Given the description of an element on the screen output the (x, y) to click on. 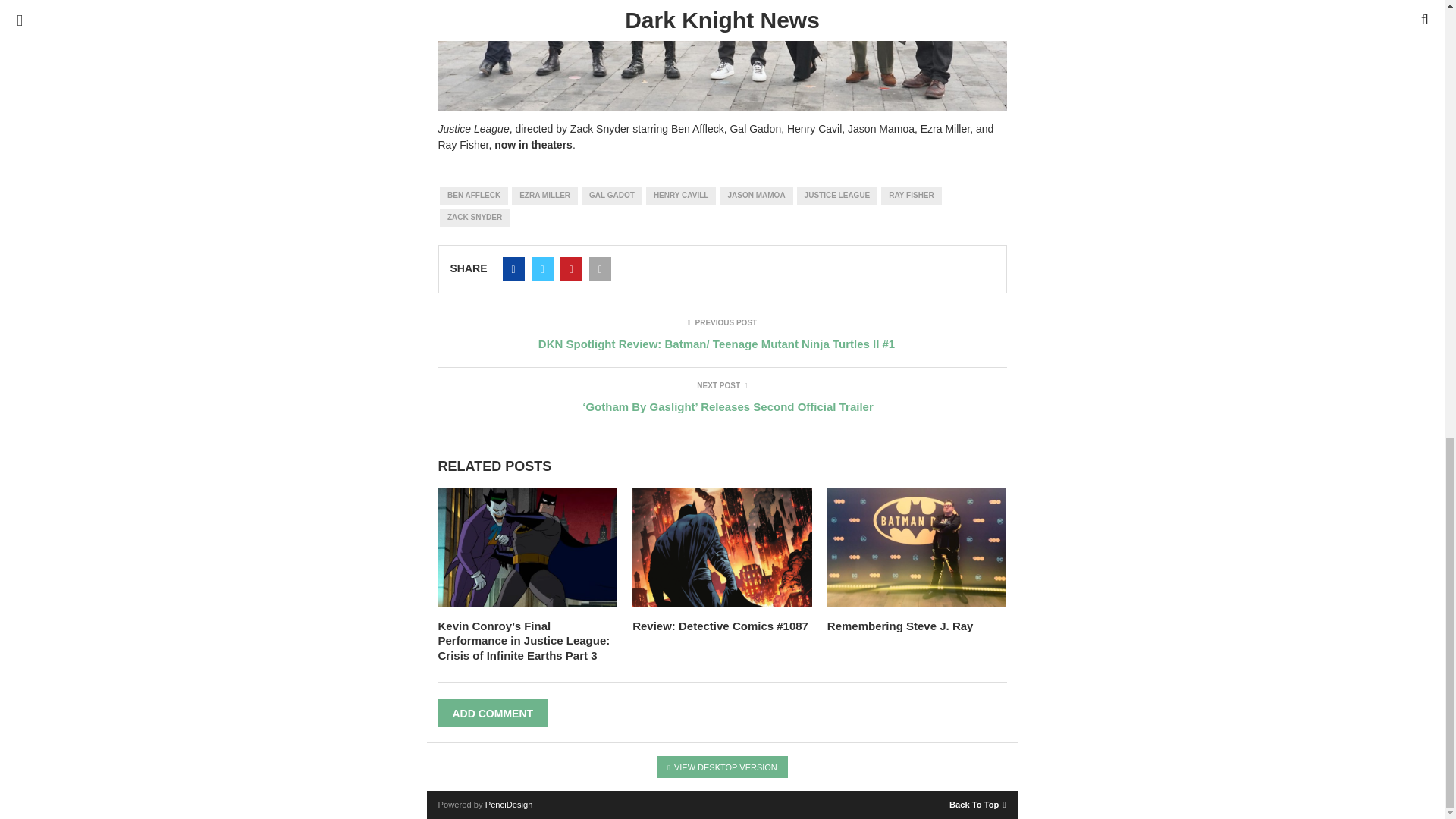
Back To Top (977, 801)
EZRA MILLER (545, 195)
RAY FISHER (910, 195)
VIEW DESKTOP VERSION (721, 766)
JUSTICE LEAGUE (836, 195)
GAL GADOT (611, 195)
HENRY CAVILL (681, 195)
PenciDesign (508, 804)
BEN AFFLECK (473, 195)
ZACK SNYDER (474, 217)
JASON MAMOA (755, 195)
ADD COMMENT (493, 713)
Remembering Steve J. Ray (900, 625)
